Given the description of an element on the screen output the (x, y) to click on. 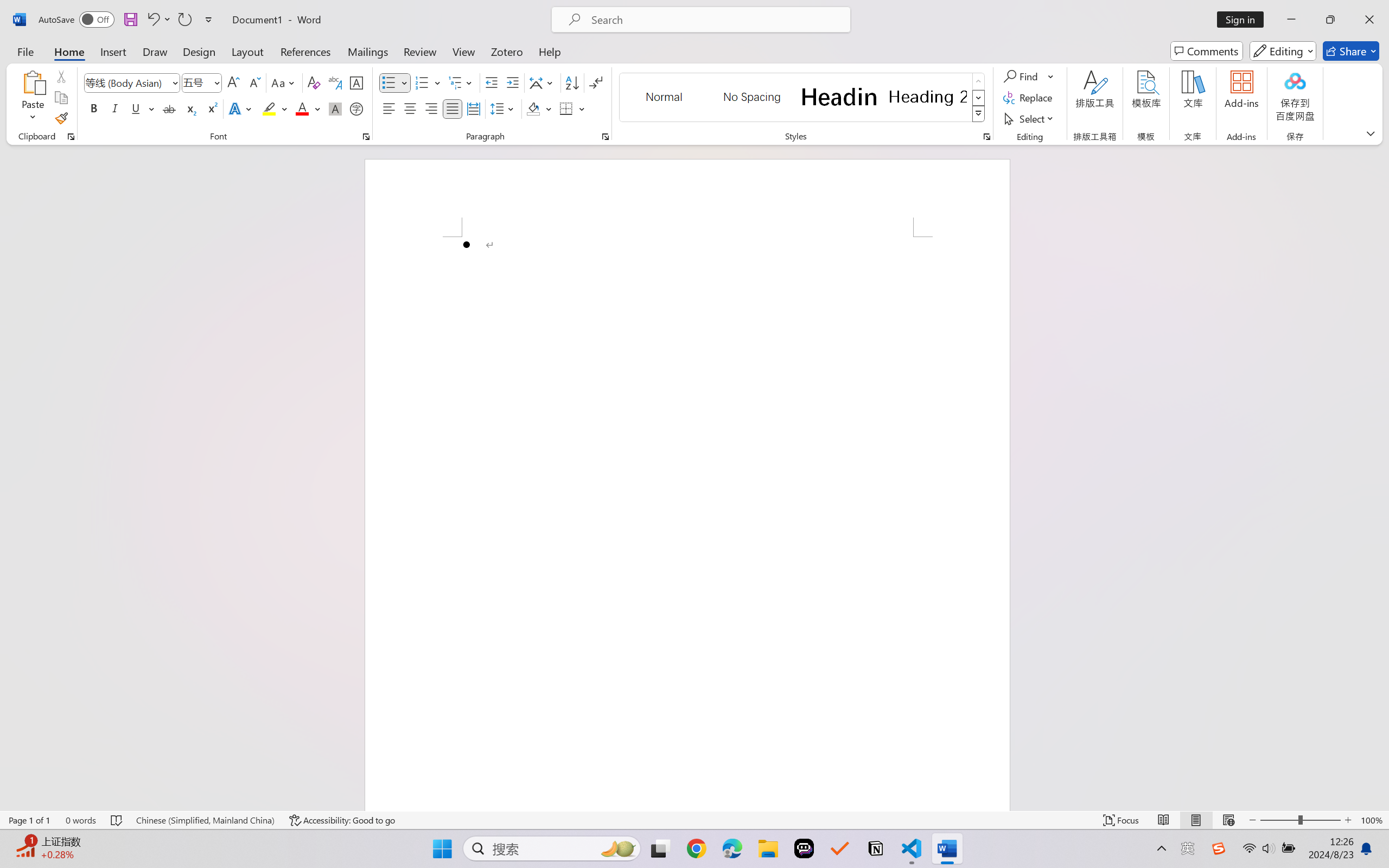
AutomationID: QuickStylesGallery (802, 97)
Undo Bullet Default (152, 19)
